Given the description of an element on the screen output the (x, y) to click on. 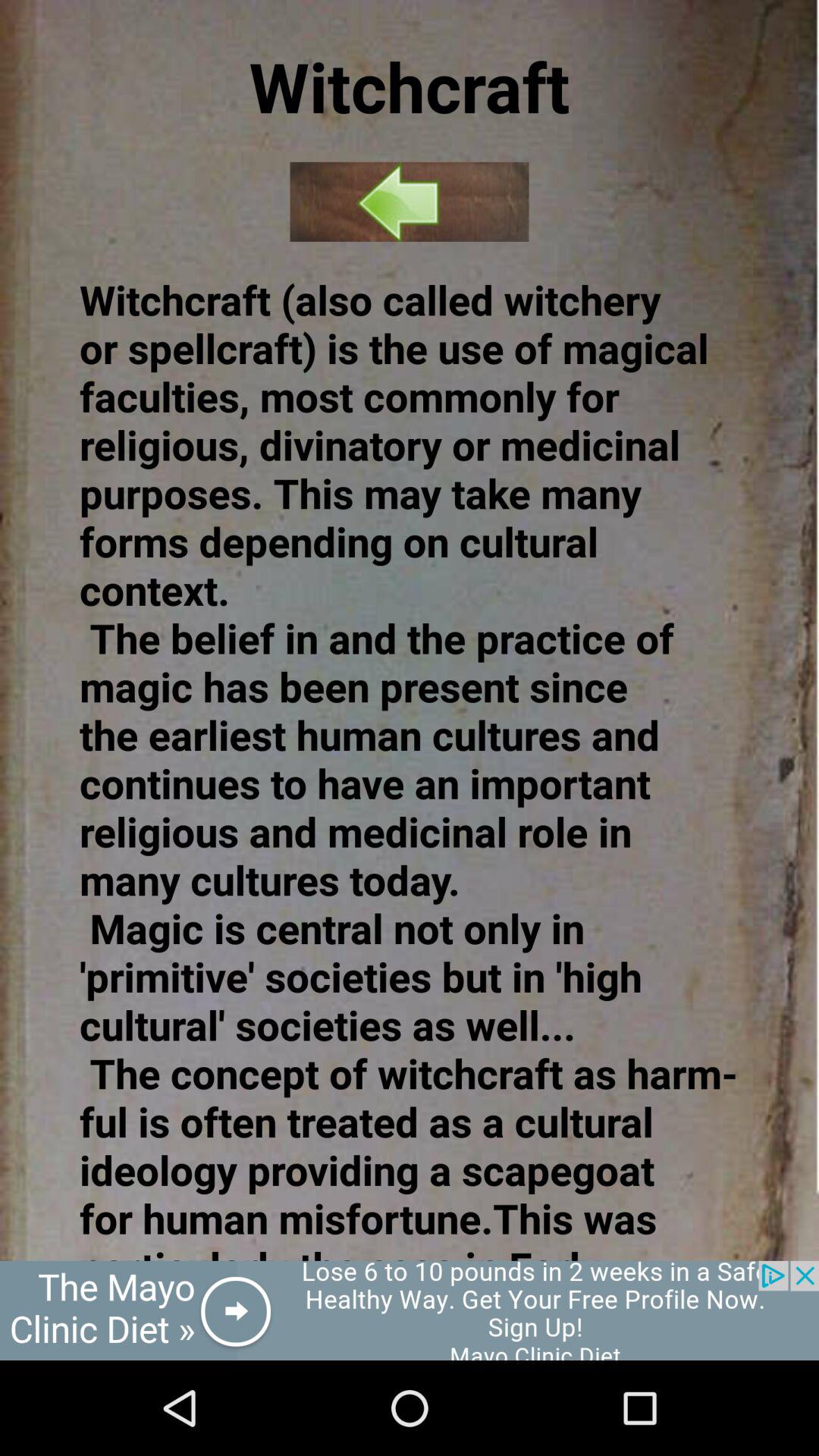
go to previous page (409, 201)
